Given the description of an element on the screen output the (x, y) to click on. 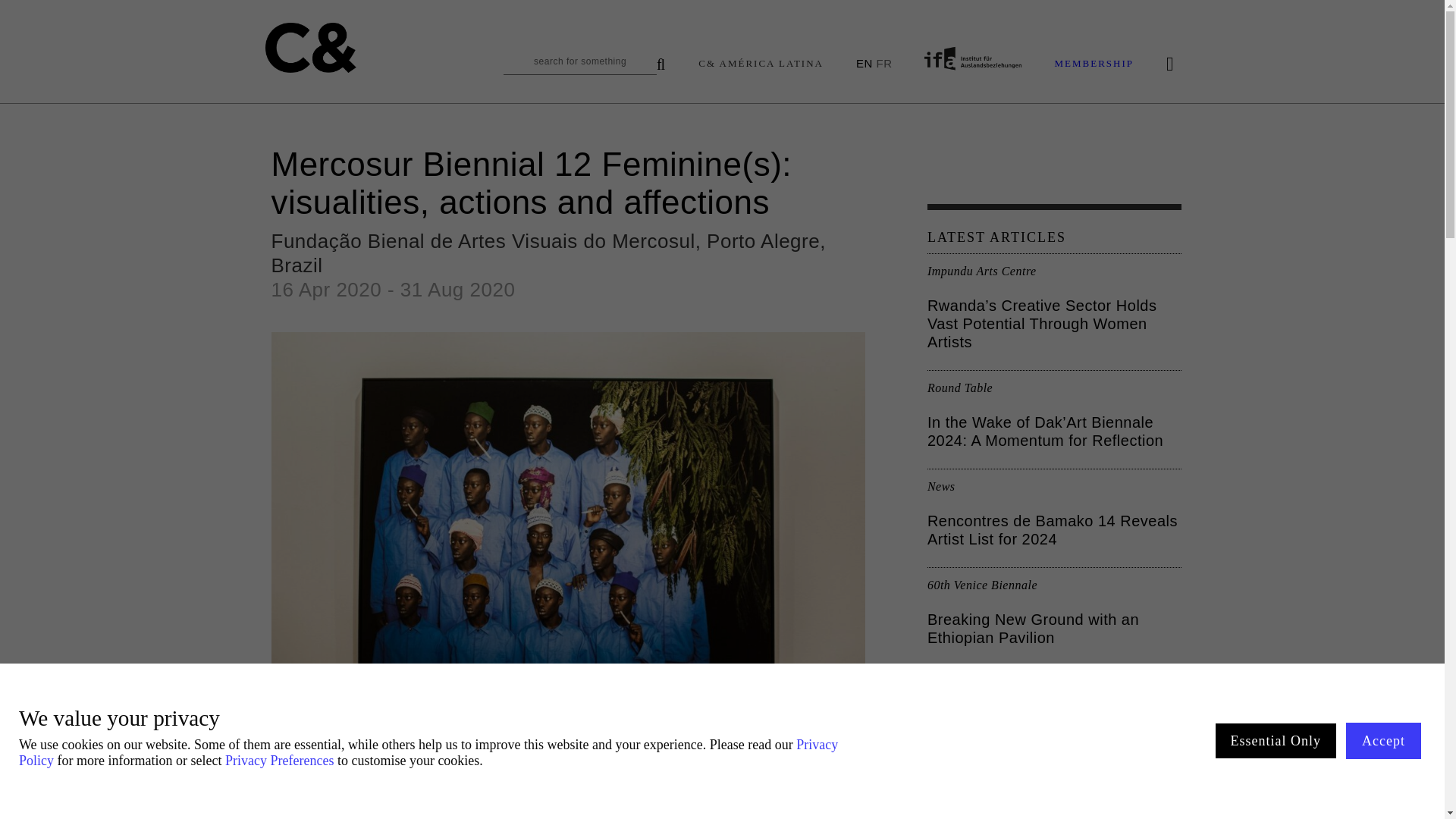
EN (864, 62)
MEMBERSHIP (1094, 63)
FR (883, 62)
search for something (584, 65)
